Given the description of an element on the screen output the (x, y) to click on. 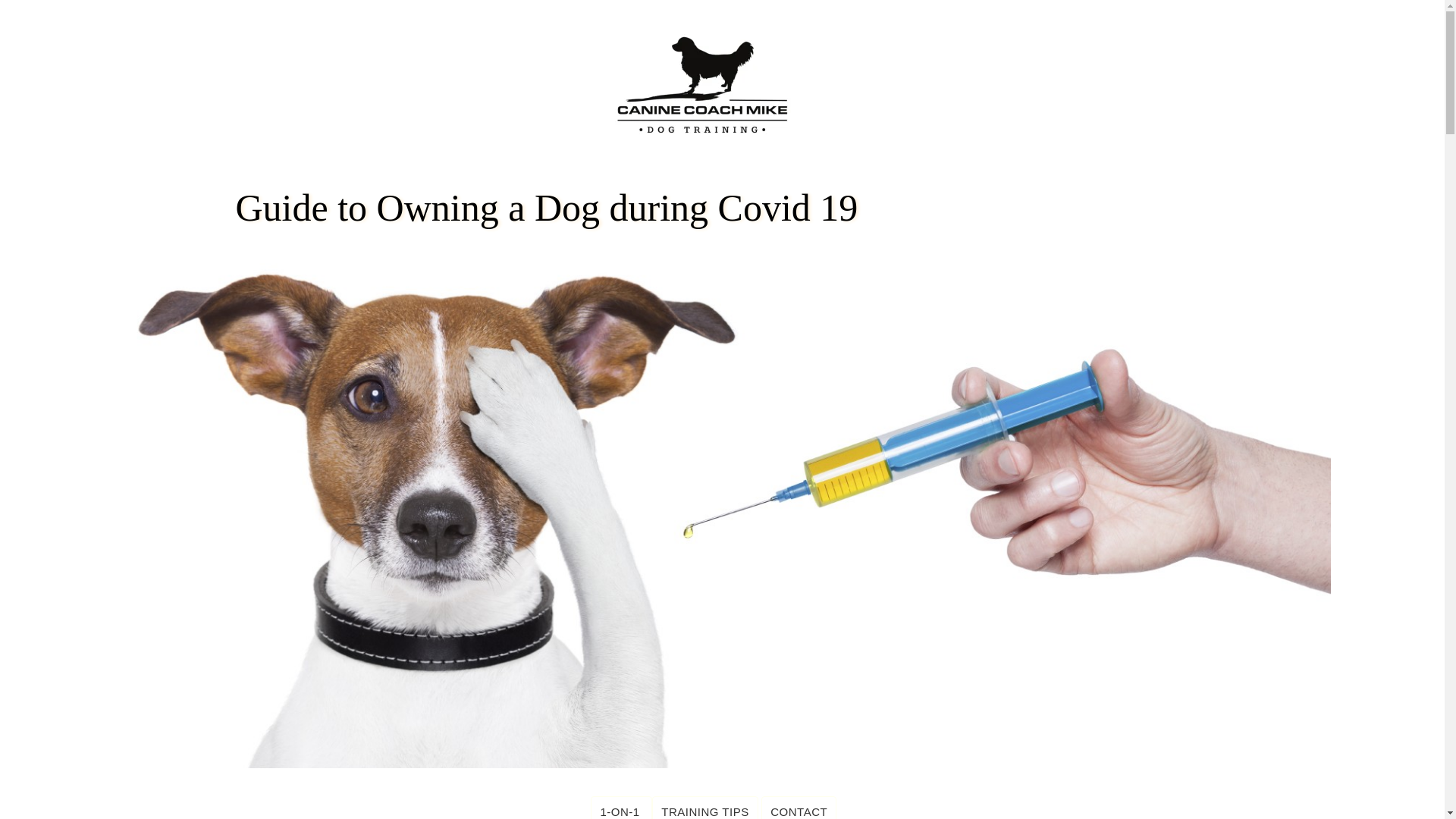
1-ON-1 (621, 807)
TRAINING TIPS (704, 807)
CONTACT (798, 807)
